Given the description of an element on the screen output the (x, y) to click on. 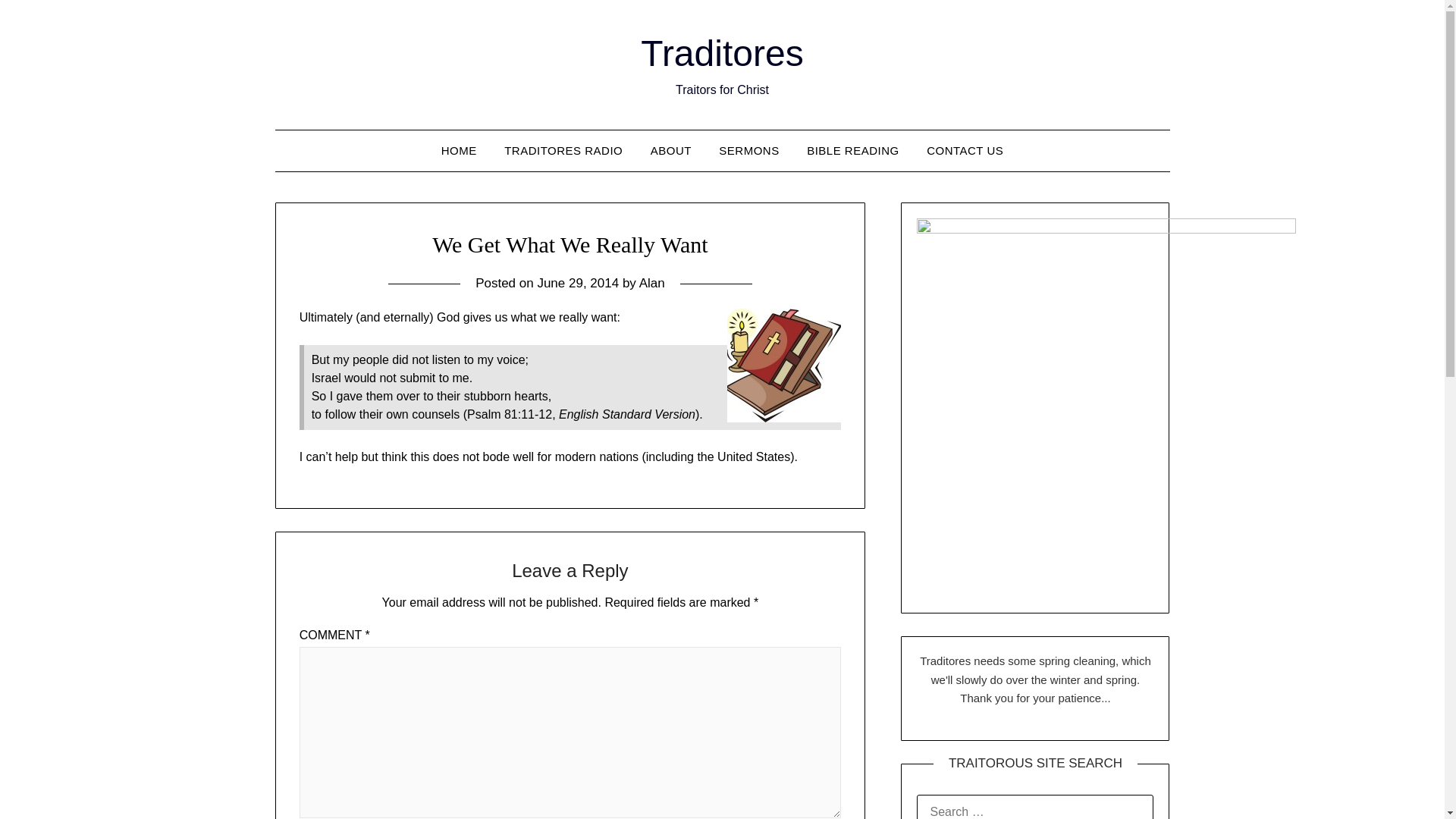
About Traditores.org (671, 150)
Traditores Radio (563, 150)
Search (38, 22)
Bible Reading Plans (852, 150)
Traditores (721, 53)
CONTACT US (964, 150)
Alan (652, 283)
SERMONS (748, 150)
Home (459, 150)
HOME (459, 150)
